Given the description of an element on the screen output the (x, y) to click on. 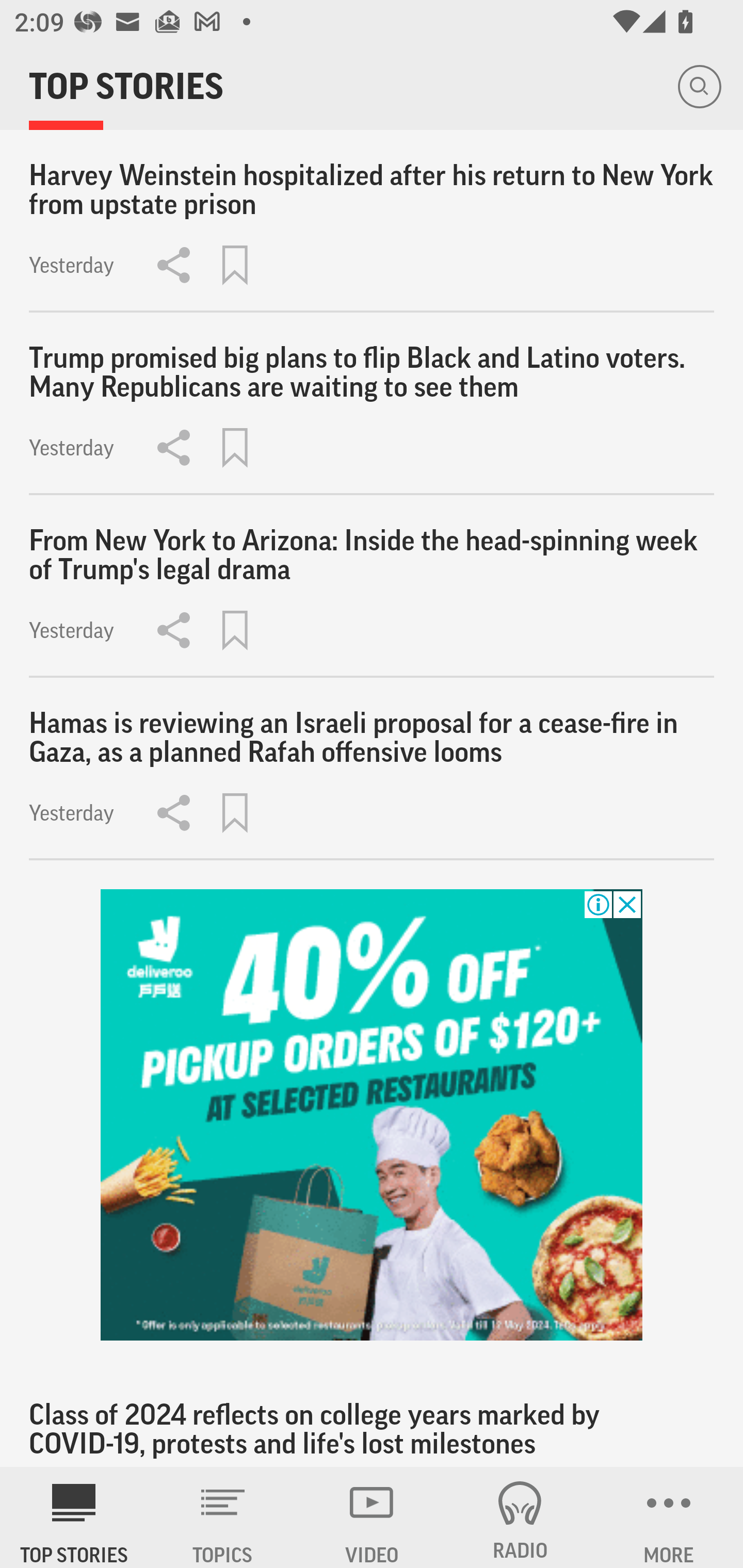
Advertisement (371, 1114)
AP News TOP STORIES (74, 1517)
TOPICS (222, 1517)
VIDEO (371, 1517)
RADIO (519, 1517)
MORE (668, 1517)
